Given the description of an element on the screen output the (x, y) to click on. 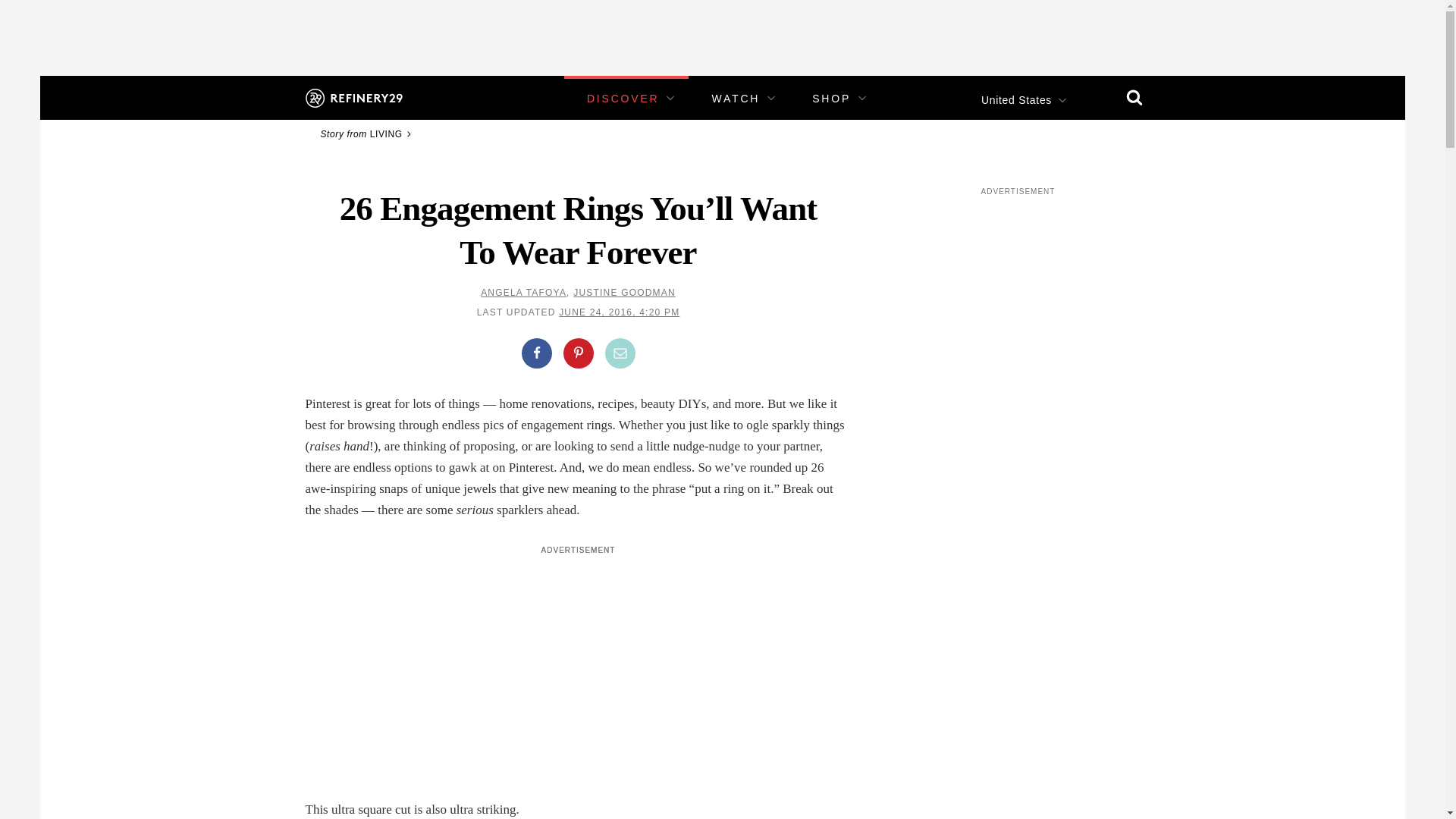
JUSTINE GOODMAN (624, 292)
SHOP (831, 98)
DISCOVER (622, 98)
Share by Email (619, 353)
WATCH (735, 98)
Share on Pinterest (577, 353)
JUNE 24, 2016, 4:20 PM (619, 312)
Refinery29 (352, 97)
Story from LIVING (367, 133)
ANGELA TAFOYA (523, 292)
